Given the description of an element on the screen output the (x, y) to click on. 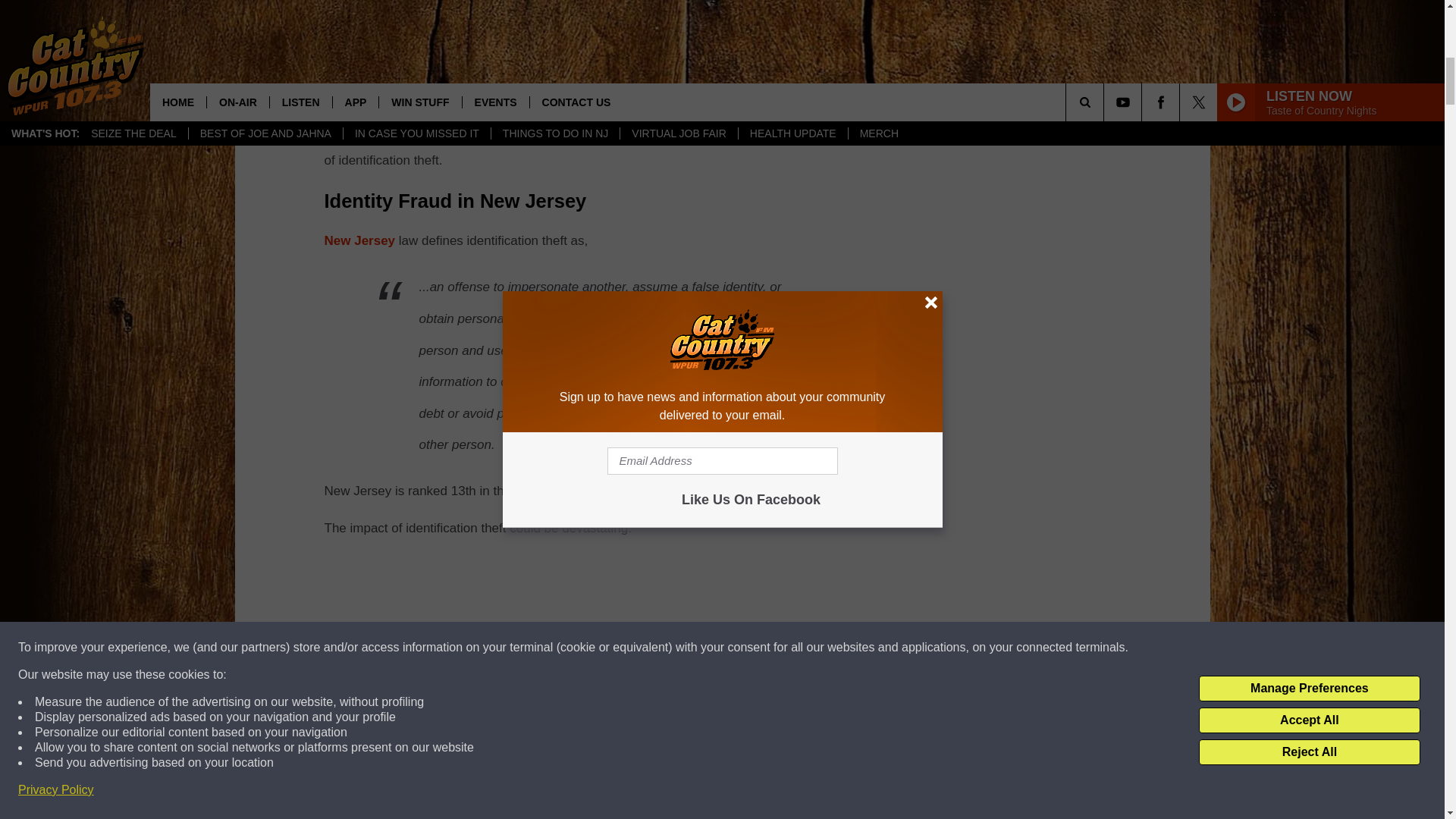
Email Address (600, 26)
